Given the description of an element on the screen output the (x, y) to click on. 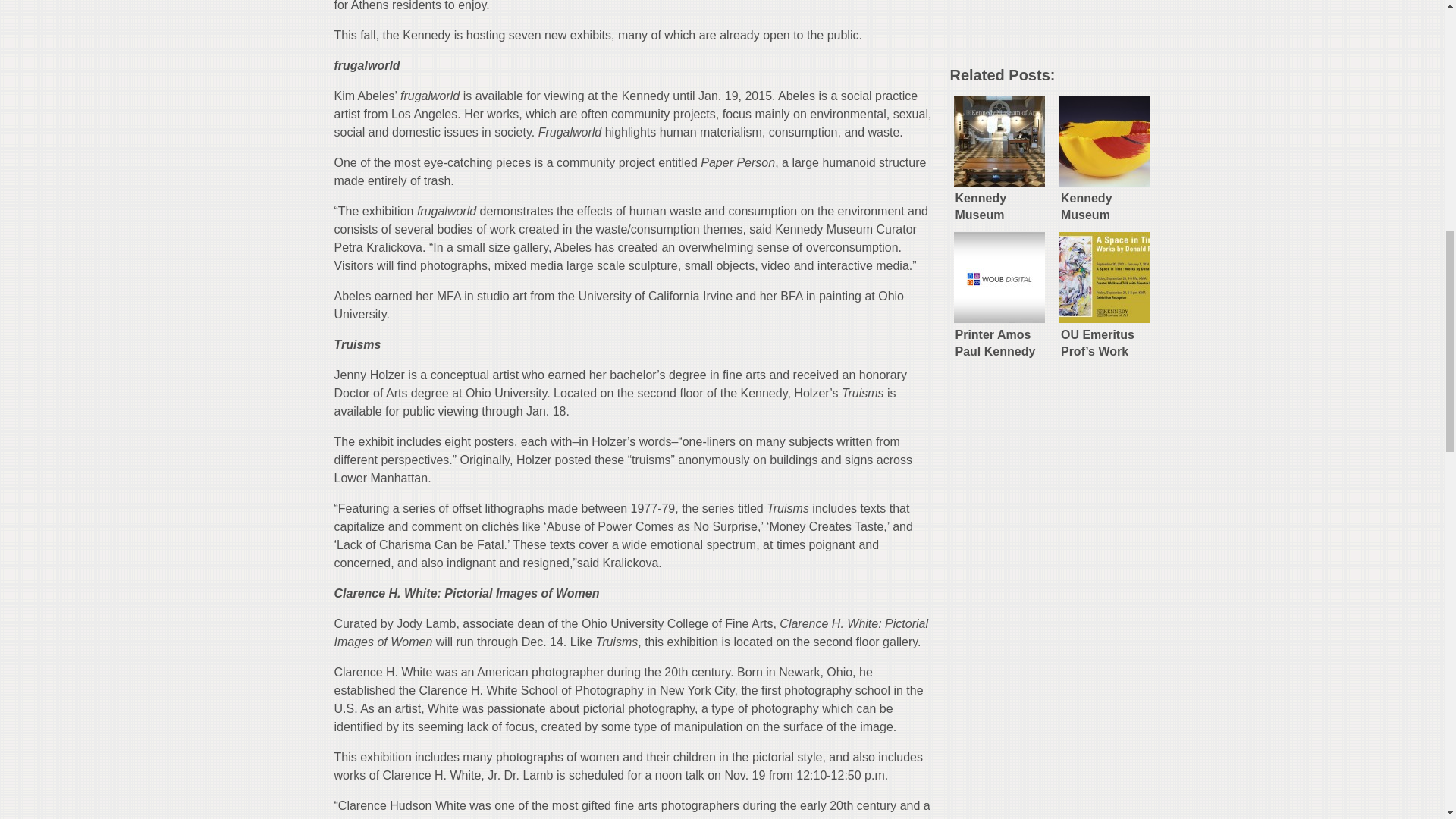
3rd party ad content (1062, 27)
